Given the description of an element on the screen output the (x, y) to click on. 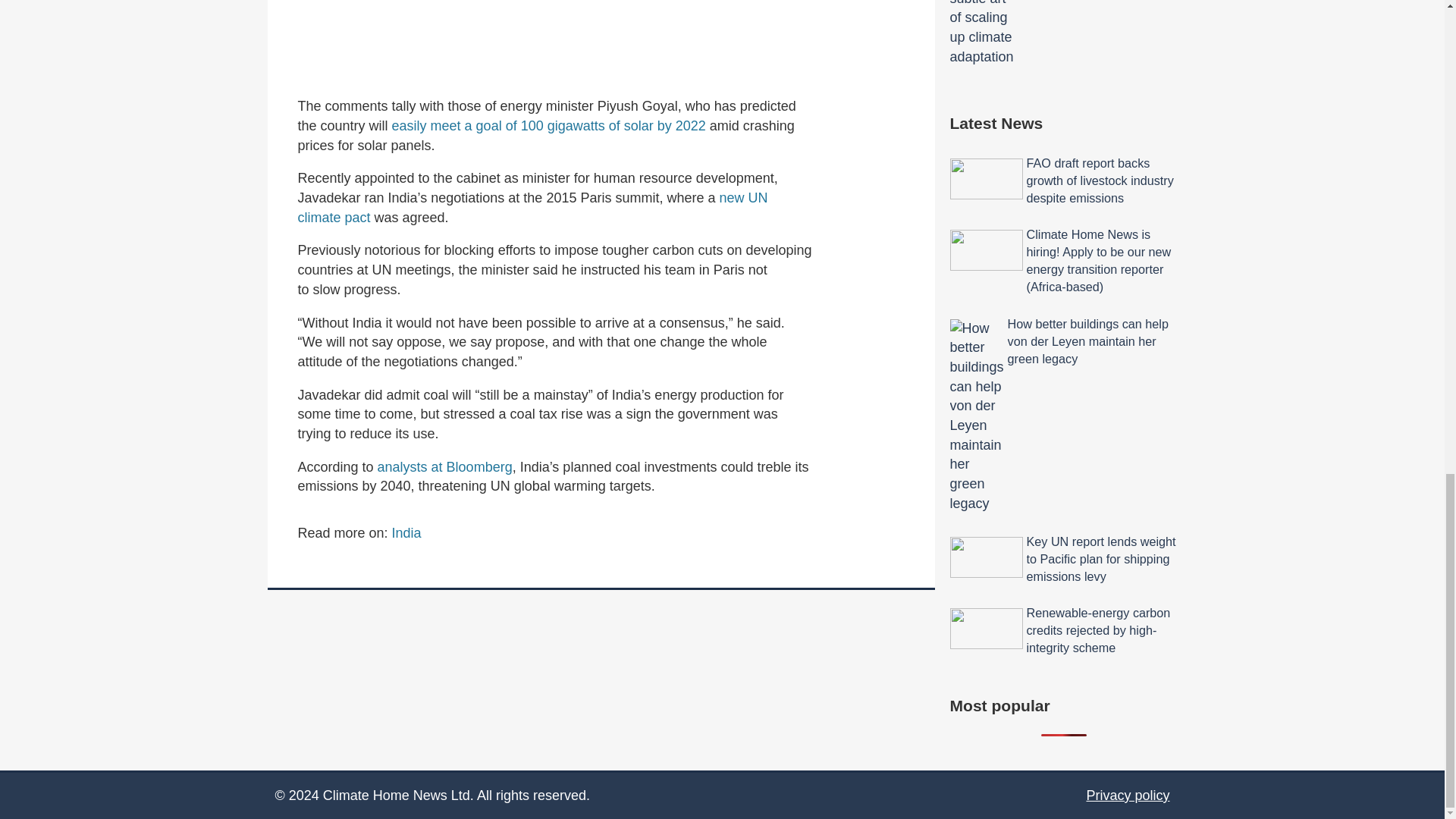
India (406, 532)
easily meet a goal of 100 gigawatts of solar by 2022 (548, 125)
new UN climate pact (532, 207)
analysts at Bloomberg (444, 467)
